Given the description of an element on the screen output the (x, y) to click on. 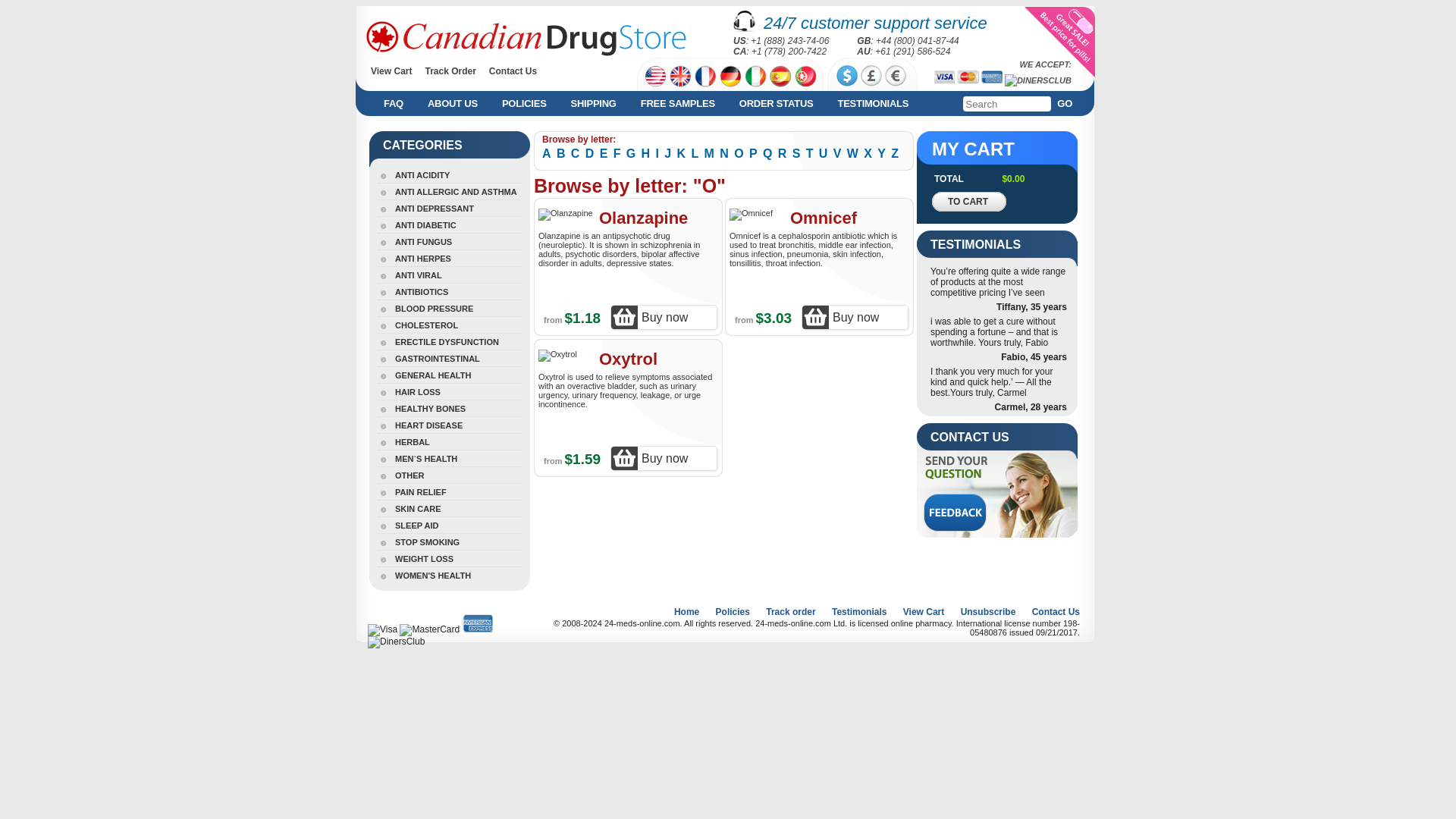
CHOLESTEROL (418, 324)
DinersClub (1037, 80)
Track Order (450, 71)
Shipping (591, 103)
ORDER STATUS (772, 103)
ANTI ALLERGIC AND ASTHMA (447, 191)
Policies (521, 103)
ANTI VIRAL (410, 274)
GASTROINTESTINAL (429, 358)
Visa (944, 76)
